Given the description of an element on the screen output the (x, y) to click on. 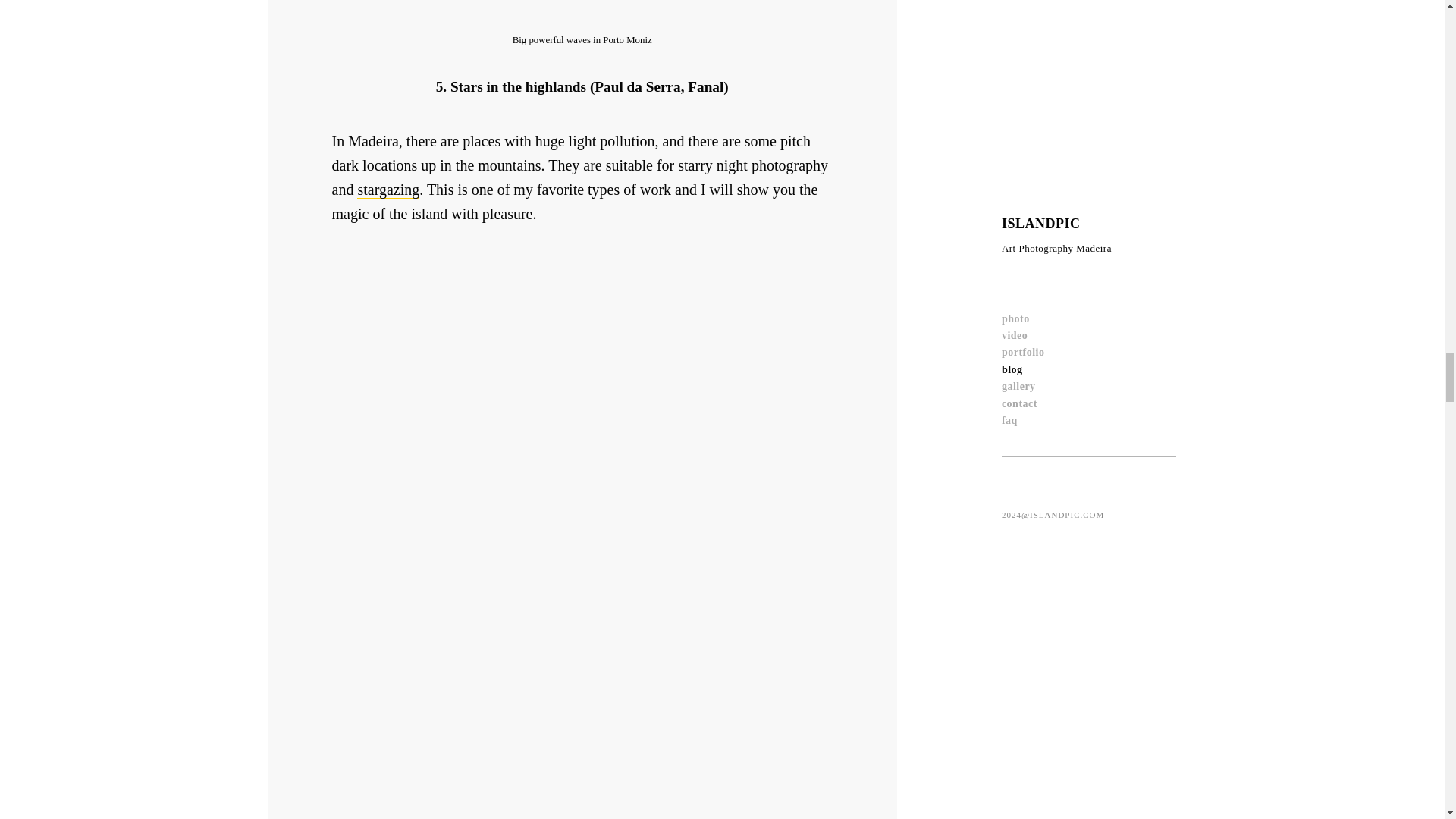
stargazing (387, 189)
